Given the description of an element on the screen output the (x, y) to click on. 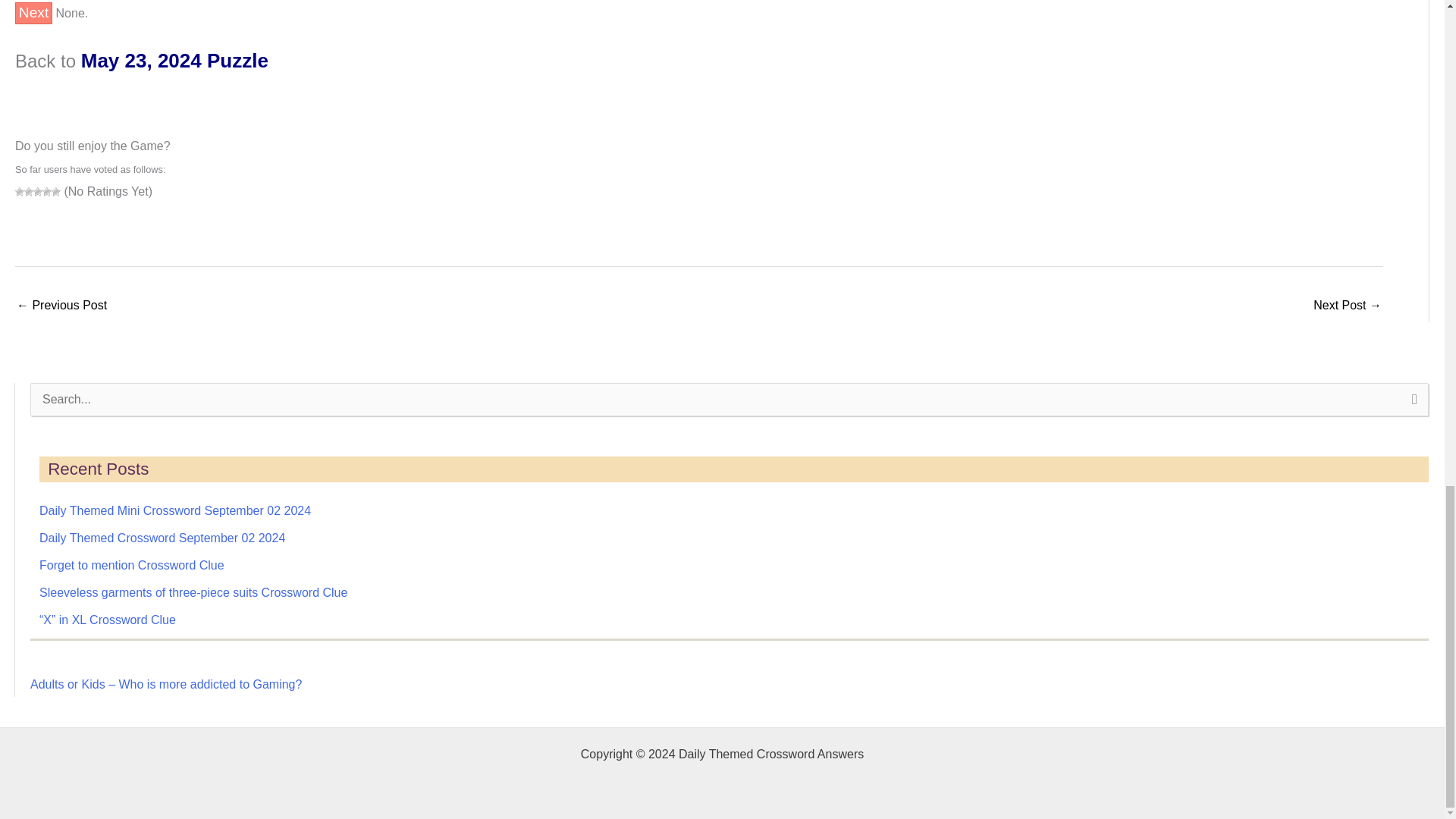
5 Stars (55, 191)
1 Star (19, 191)
3 Stars (37, 191)
Sleeveless garments of three-piece suits Crossword Clue (193, 592)
Used an ottoman, say Crossword Clue (61, 306)
4 Stars (46, 191)
Refuse to admit Crossword Clue (1347, 306)
Forget to mention Crossword Clue (131, 564)
Daily Themed Mini Crossword September 02 2024 (175, 510)
Daily Themed Crossword September 02 2024 (162, 537)
